Given the description of an element on the screen output the (x, y) to click on. 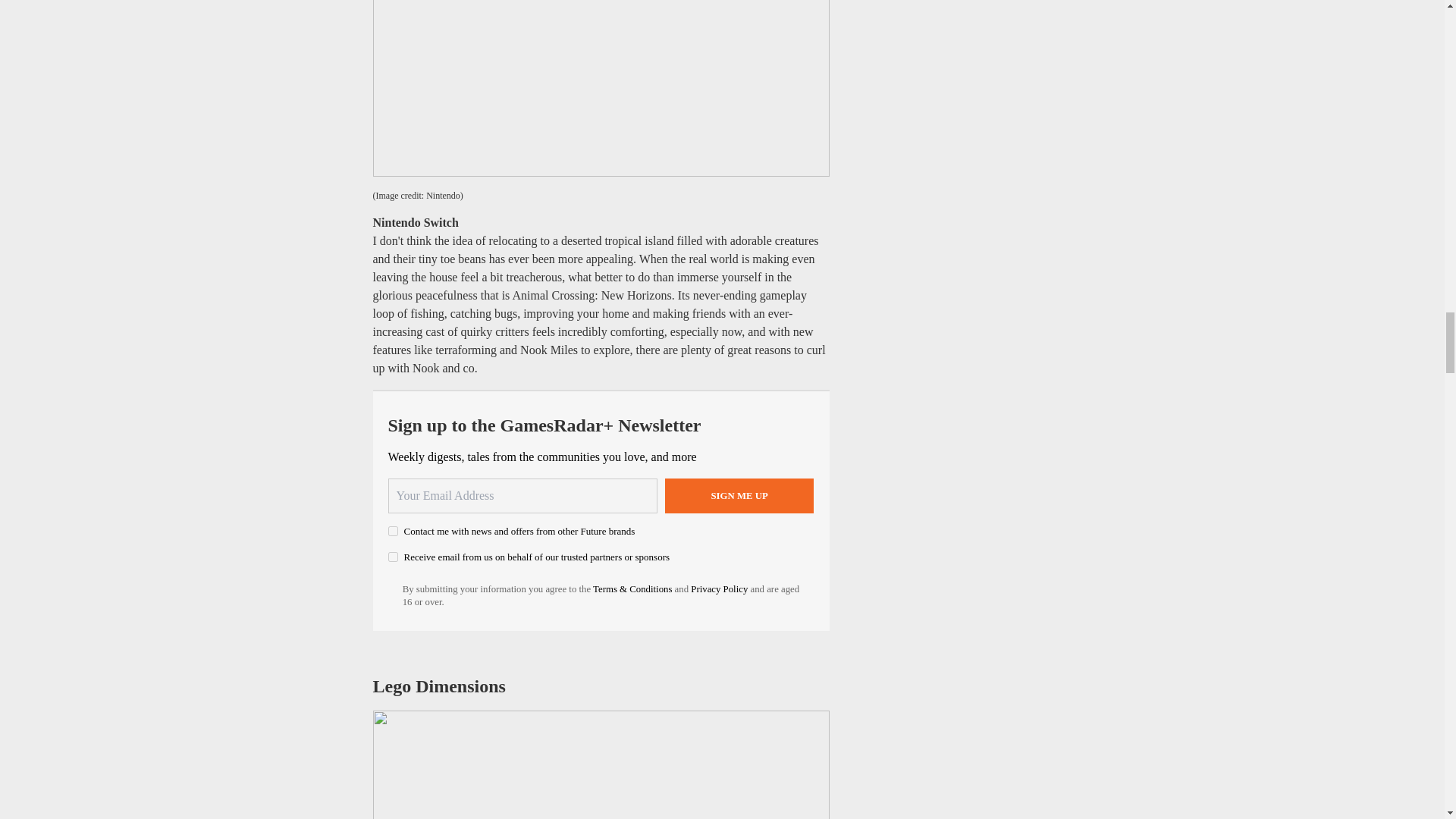
Sign me up (739, 495)
on (392, 556)
on (392, 531)
